Given the description of an element on the screen output the (x, y) to click on. 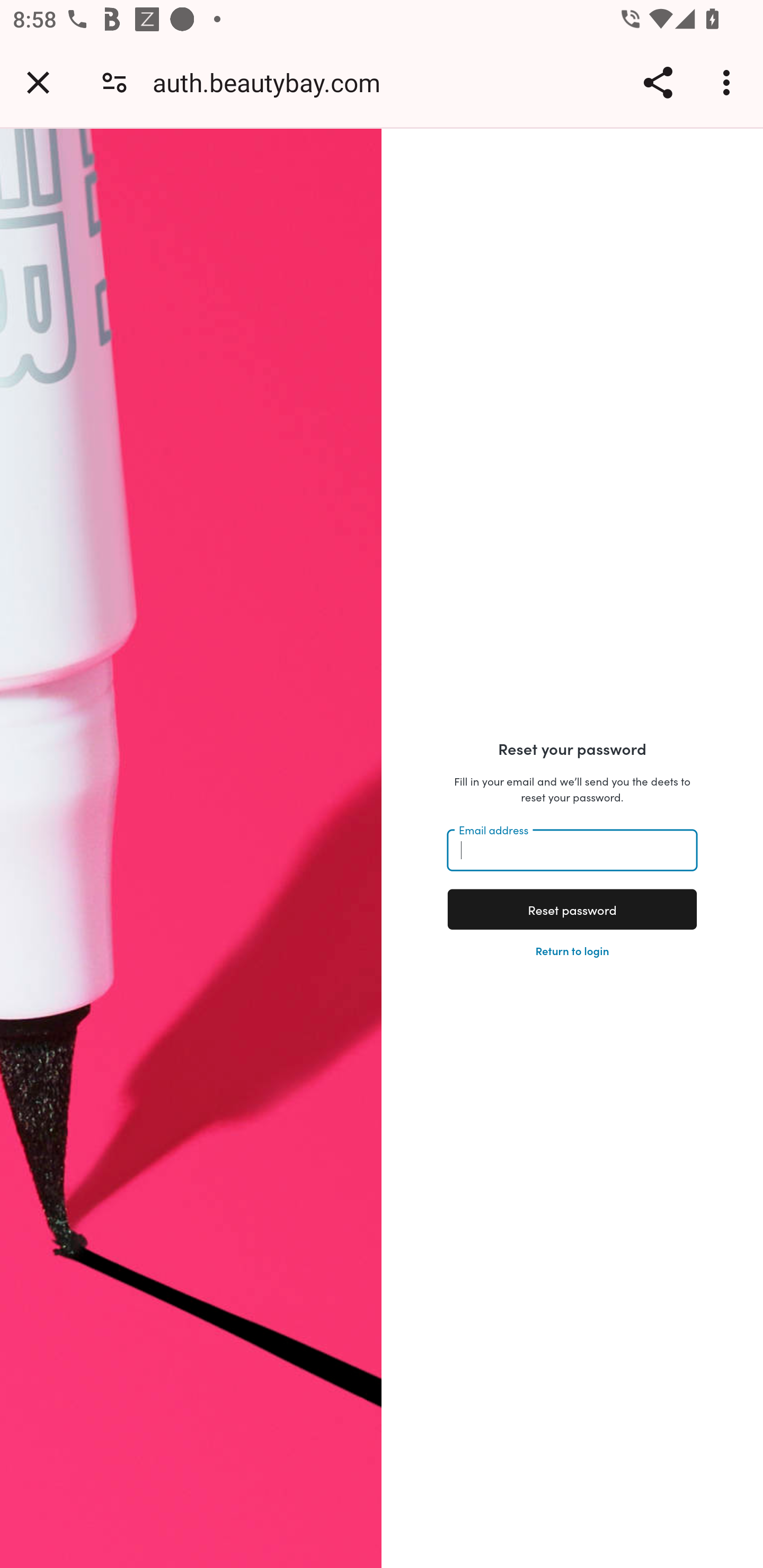
Close tab (38, 82)
Share (657, 82)
Customize and control Google Chrome (729, 82)
Connection is secure (114, 81)
auth.beautybay.com (272, 81)
Reset password (571, 909)
Return to login (572, 949)
